Given the description of an element on the screen output the (x, y) to click on. 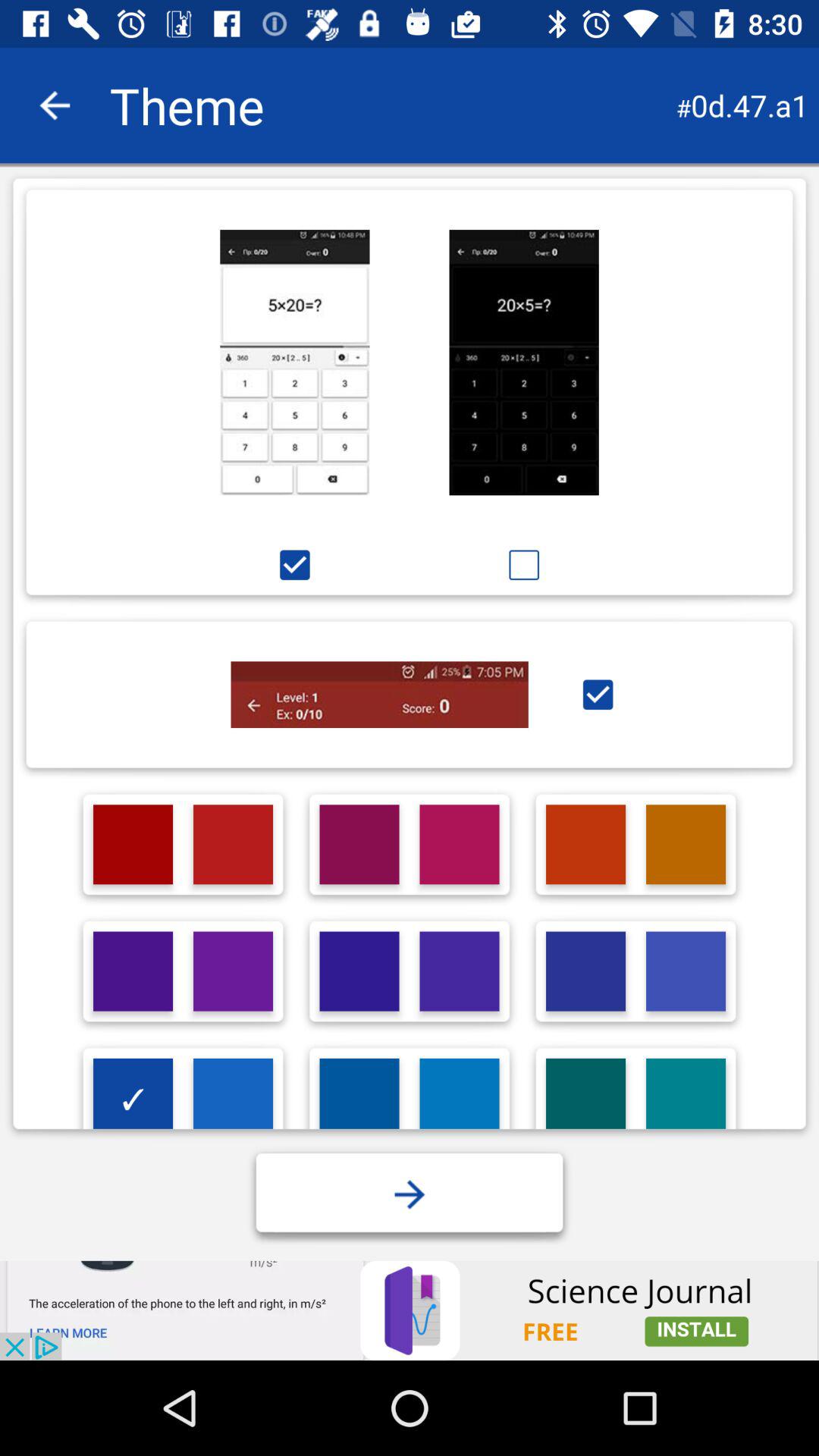
advertisement (409, 1310)
